Given the description of an element on the screen output the (x, y) to click on. 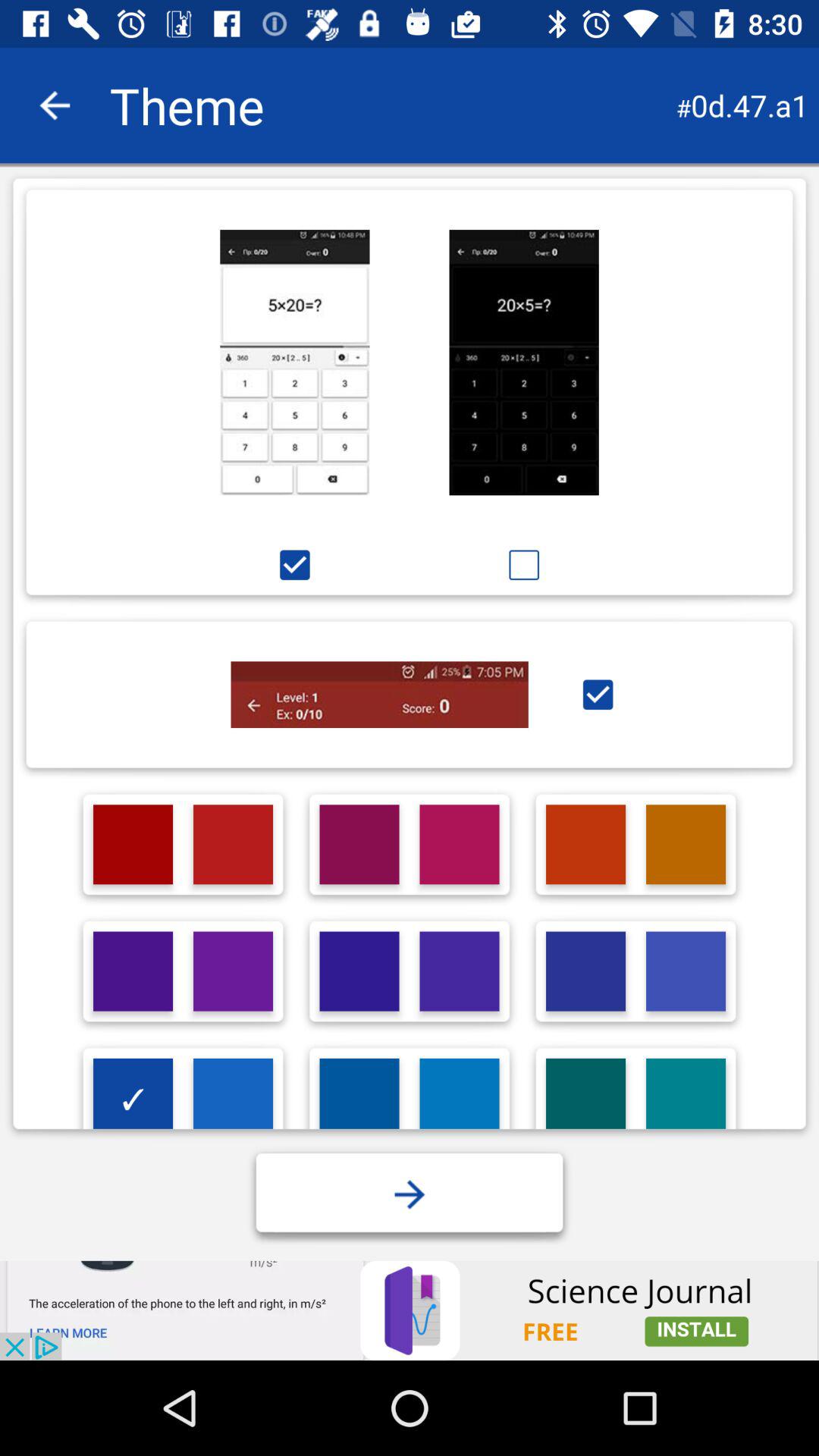
advertisement (409, 1310)
